Given the description of an element on the screen output the (x, y) to click on. 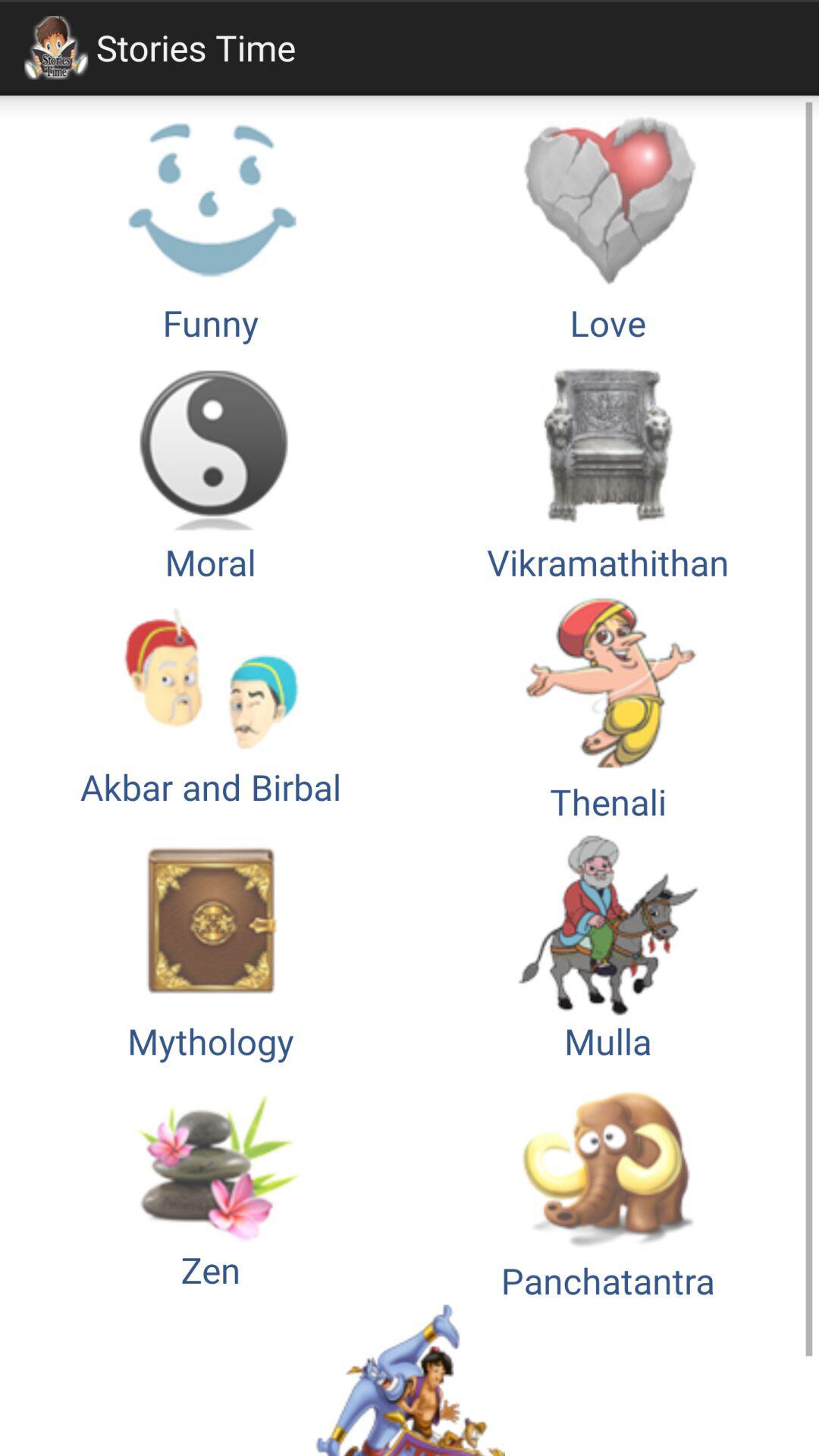
choose the button at the bottom (409, 1380)
